Given the description of an element on the screen output the (x, y) to click on. 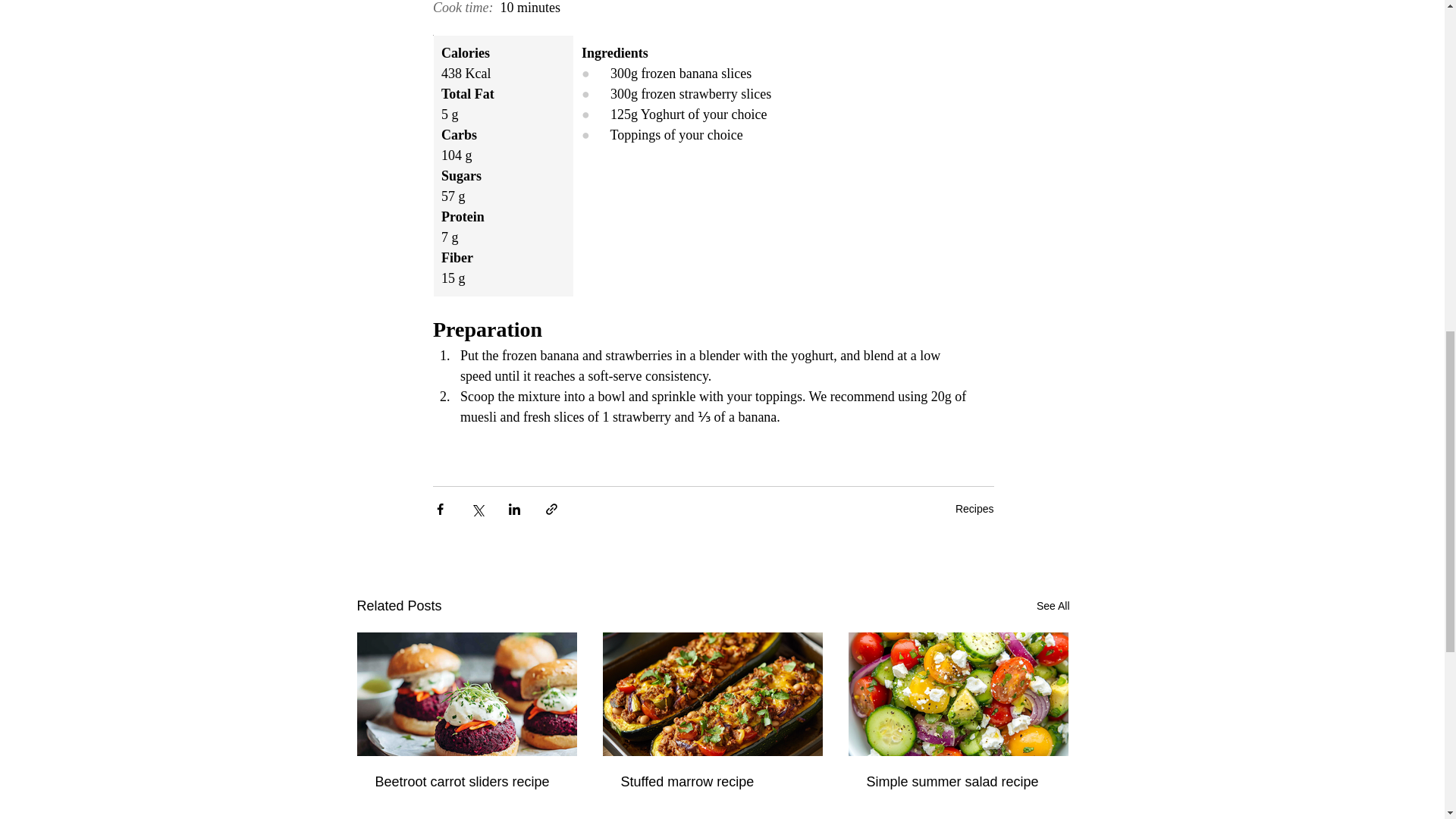
Simple summer salad recipe (957, 781)
See All (1053, 606)
Stuffed marrow recipe (711, 781)
Beetroot carrot sliders recipe (465, 781)
Recipes (974, 508)
